Given the description of an element on the screen output the (x, y) to click on. 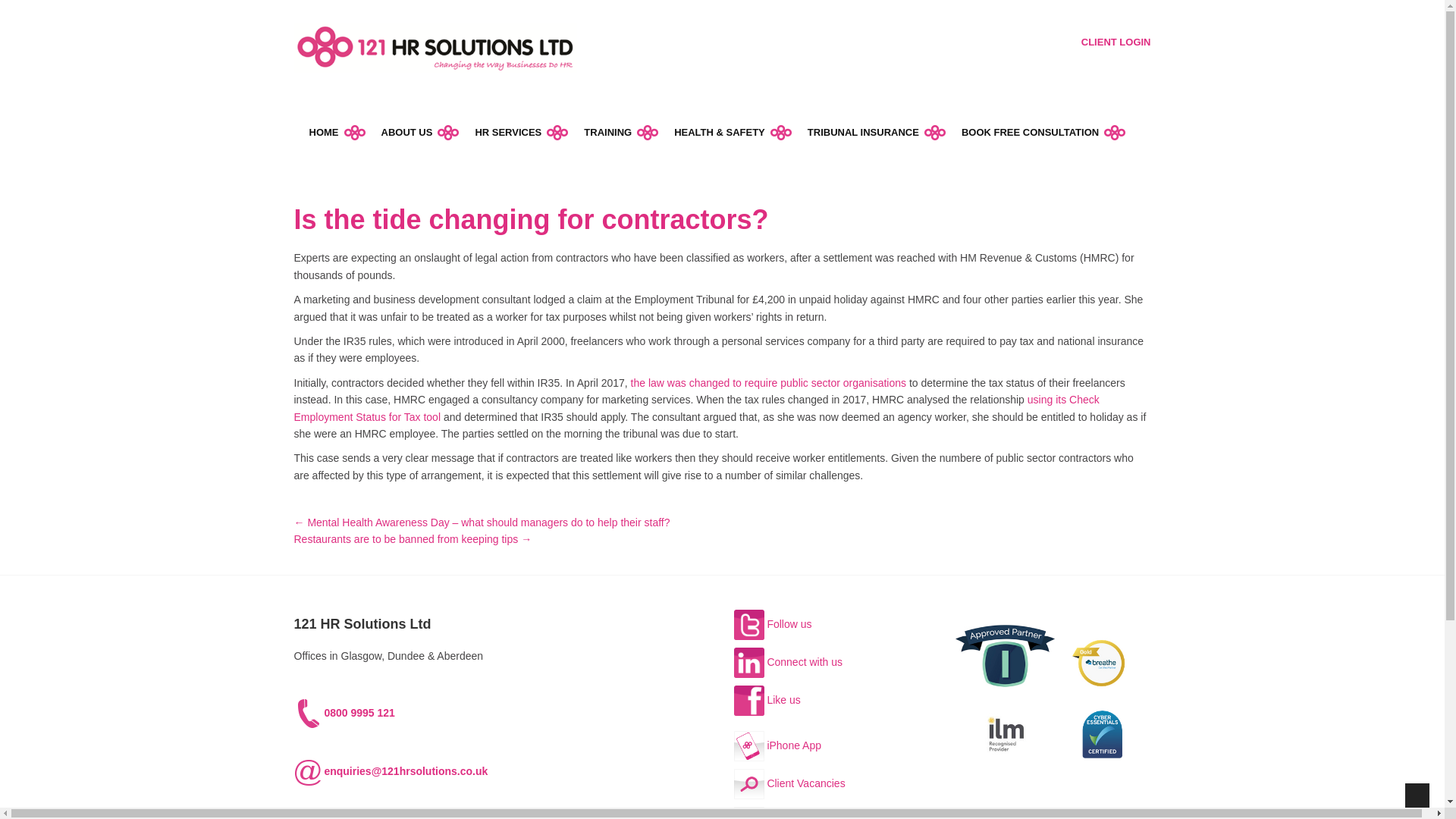
CLIENT LOGIN (1116, 42)
Like us (766, 699)
TRIBUNAL INSURANCE (877, 132)
iPhone App (777, 745)
Client Vacancies (789, 783)
HOME (337, 132)
0800 9995 121 (344, 712)
using its Check Employment Status for Tax tool (696, 407)
BOOK FREE CONSULTATION (1042, 132)
TRAINING (621, 132)
Follow us (772, 623)
Connect with us (788, 662)
121 HR Blog (780, 816)
the law was changed to require public sector organisations (767, 382)
HR SERVICES (521, 132)
